Given the description of an element on the screen output the (x, y) to click on. 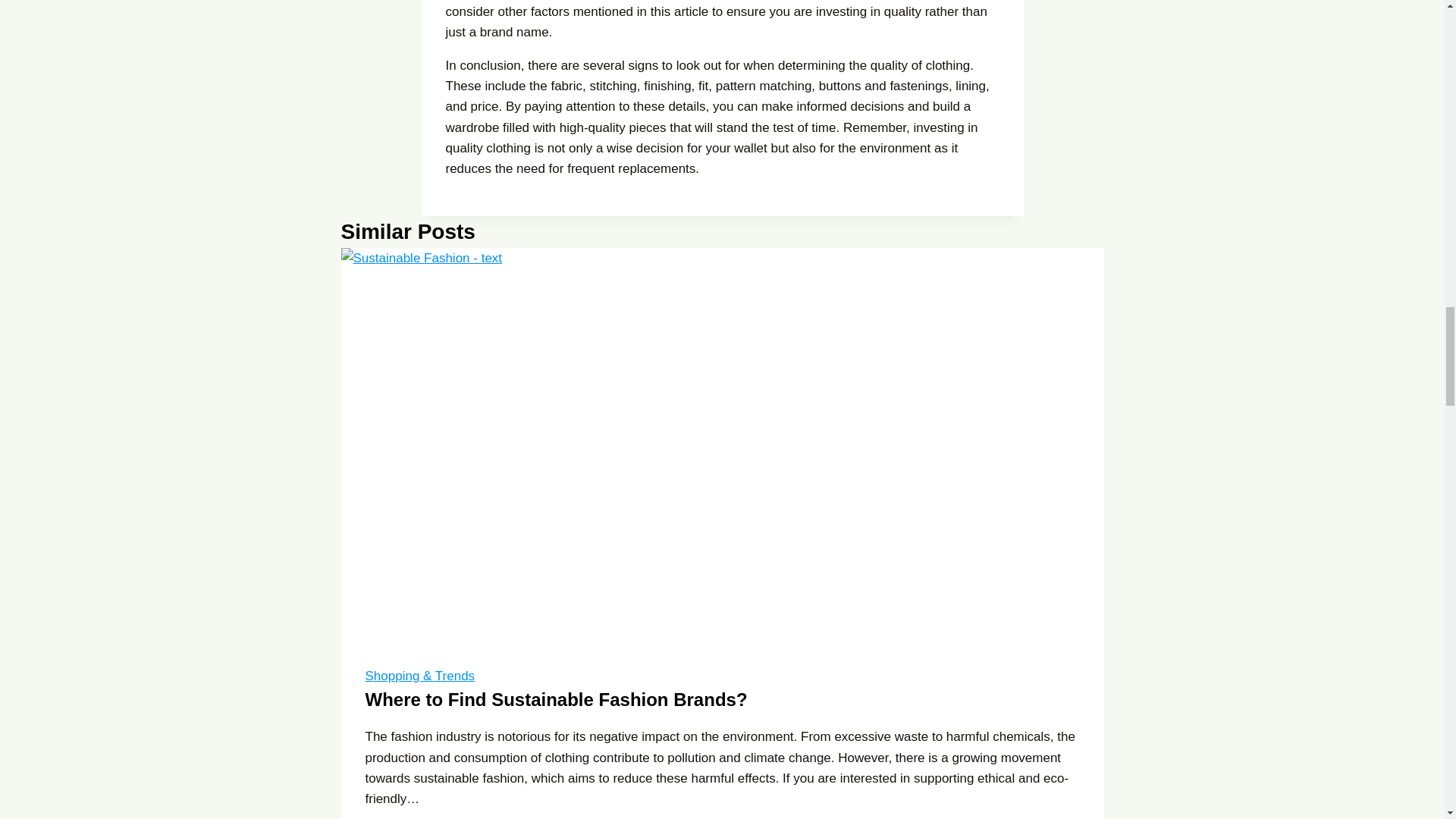
Where to Find Sustainable Fashion Brands? (556, 699)
